Given the description of an element on the screen output the (x, y) to click on. 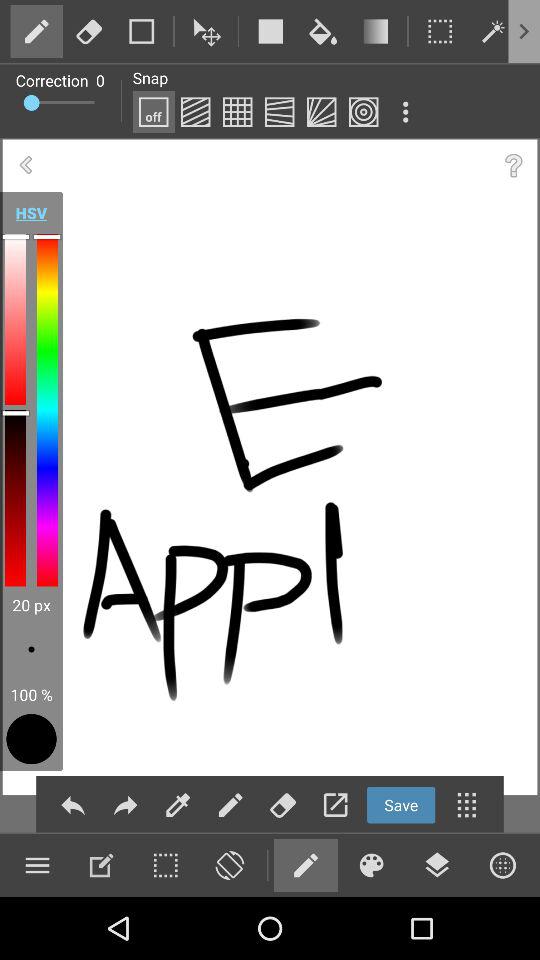
crop (141, 31)
